Given the description of an element on the screen output the (x, y) to click on. 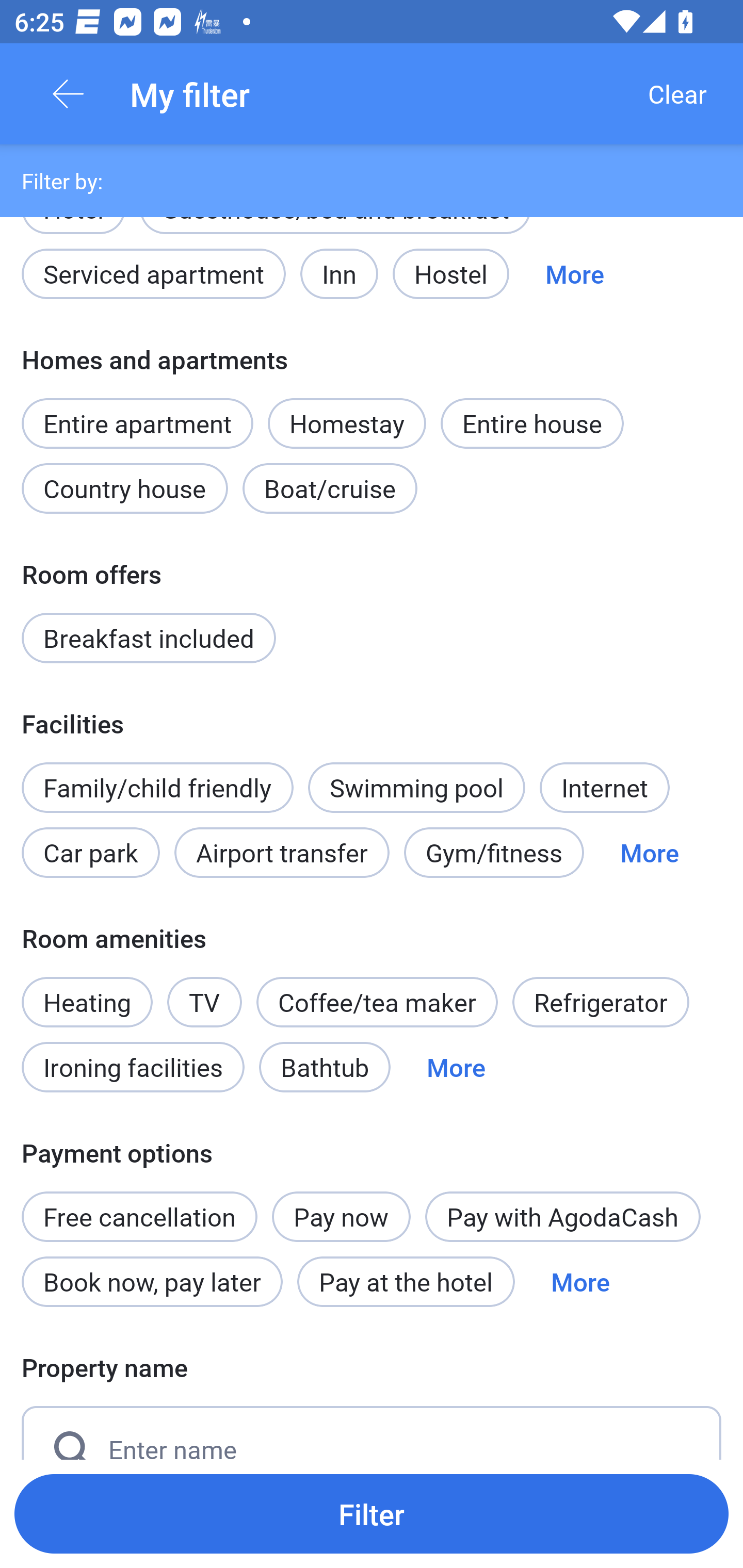
Clear (676, 93)
Serviced apartment (153, 273)
Inn (339, 273)
Hostel (450, 273)
More (574, 273)
Entire apartment (137, 423)
Homestay (346, 423)
Entire house (532, 423)
Country house (124, 488)
Boat/cruise (329, 488)
Breakfast included (148, 638)
Family/child friendly (157, 787)
Swimming pool (416, 787)
Internet (604, 787)
Car park (90, 852)
Airport transfer (281, 852)
Gym/fitness (493, 852)
More (649, 852)
Heating (87, 991)
TV (204, 1002)
Coffee/tea maker (376, 1002)
Refrigerator (600, 1002)
Ironing facilities (132, 1066)
Bathtub (324, 1066)
More (455, 1066)
Free cancellation (139, 1205)
Pay now (340, 1216)
Pay with AgodaCash (562, 1216)
Book now, pay later (152, 1281)
Pay at the hotel (405, 1281)
More (580, 1281)
Filter (371, 1513)
